Given the description of an element on the screen output the (x, y) to click on. 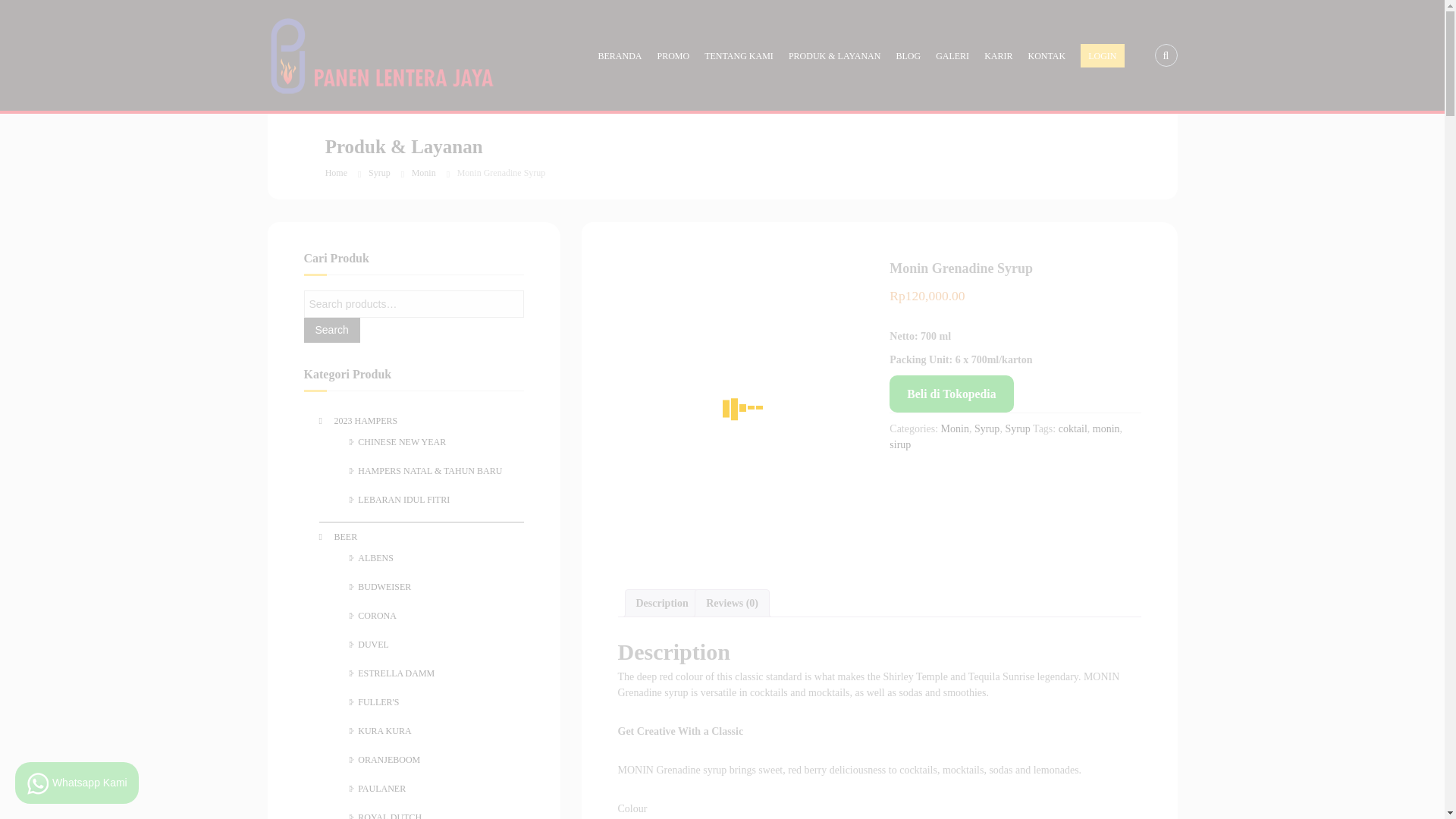
coktail (1072, 428)
TENTANG KAMI (738, 54)
Syrup (379, 172)
BERANDA (619, 54)
sirup (900, 444)
Monin (423, 172)
Monin (954, 428)
Syrup (986, 428)
monin (1106, 428)
KARIR (997, 54)
